Given the description of an element on the screen output the (x, y) to click on. 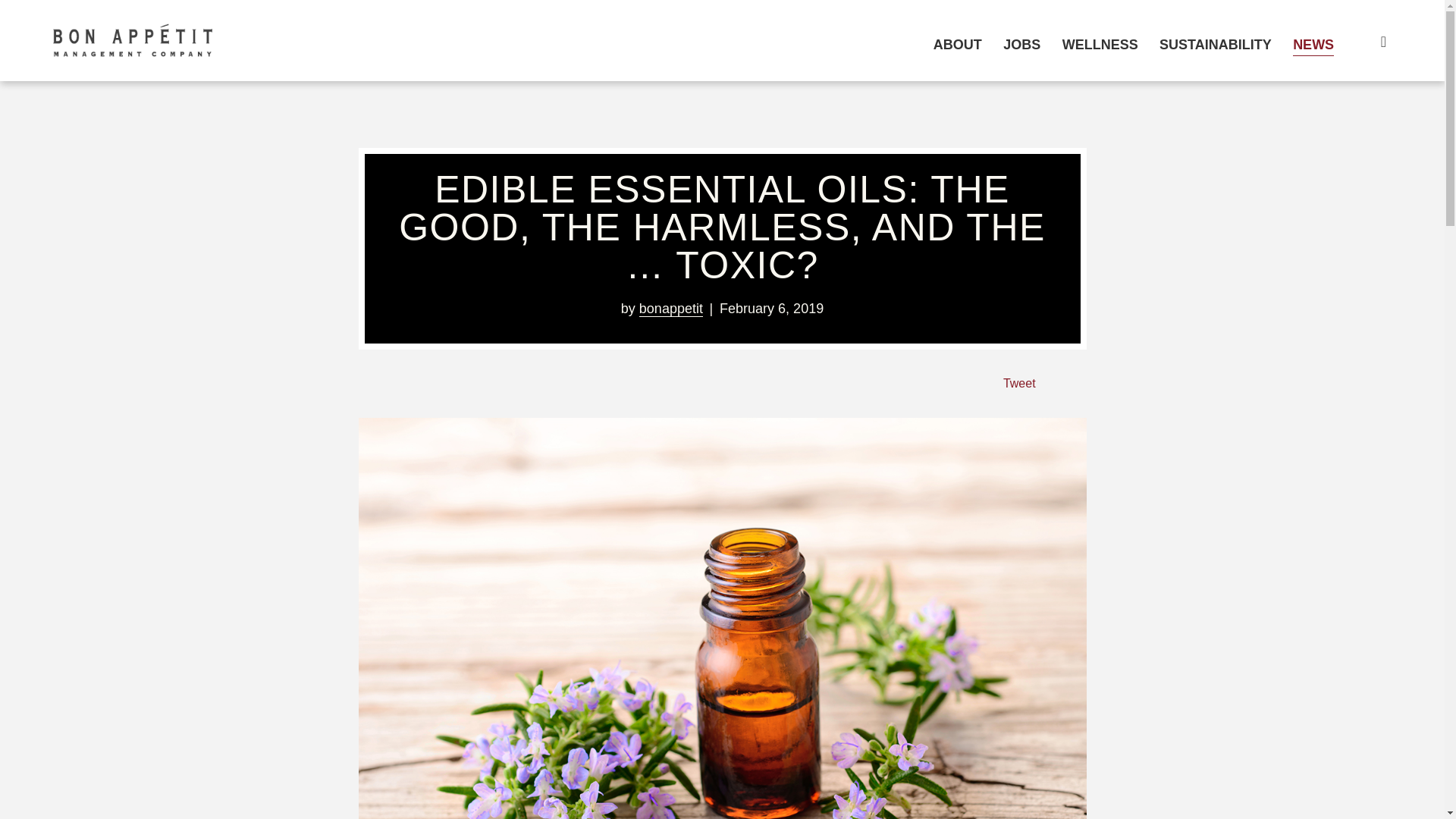
Search (1373, 41)
JOBS (1022, 43)
ABOUT (957, 43)
SUSTAINABILITY (1214, 43)
WELLNESS (1100, 43)
